Given the description of an element on the screen output the (x, y) to click on. 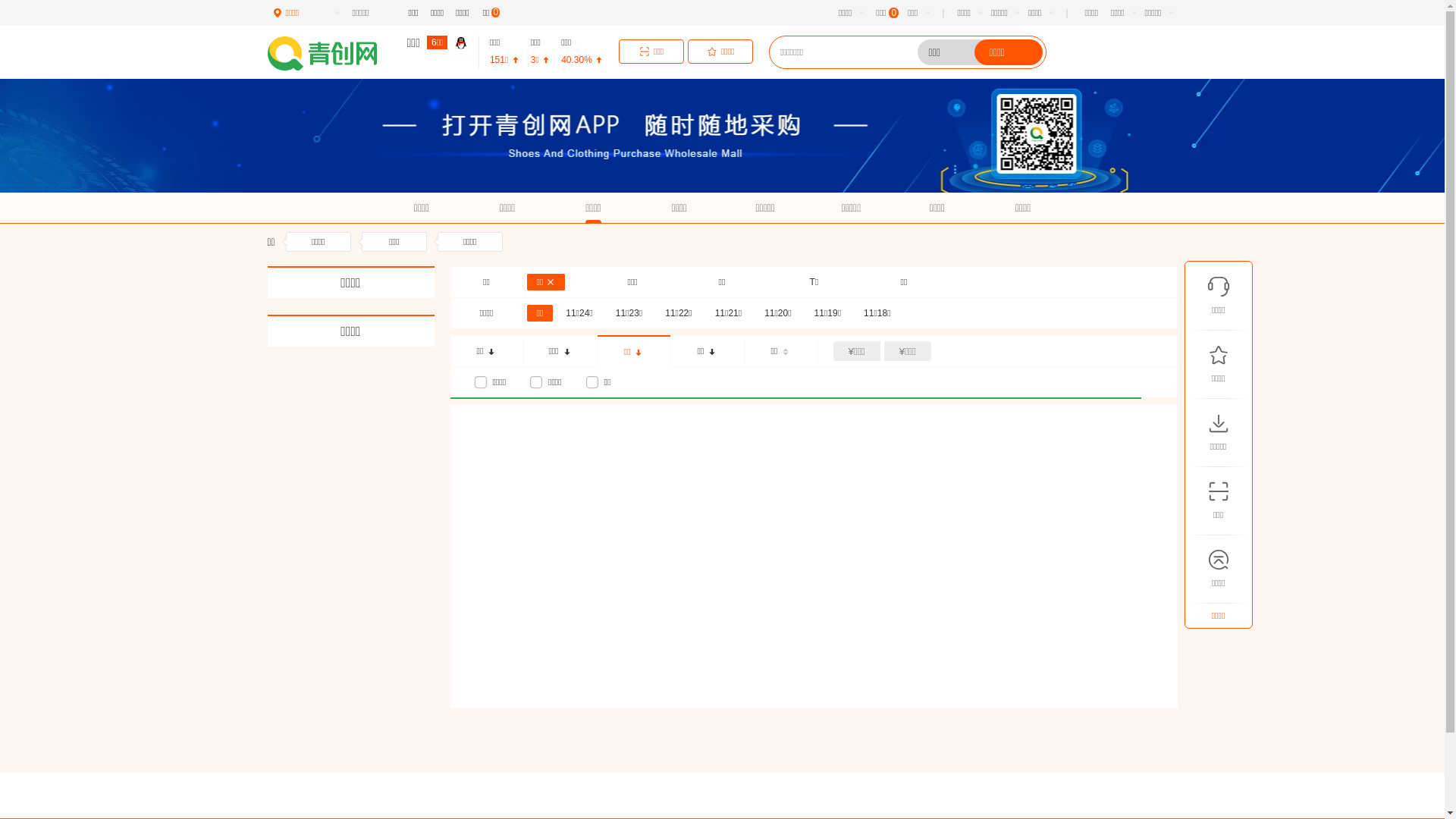
17qcc Element type: text (331, 53)
